Given the description of an element on the screen output the (x, y) to click on. 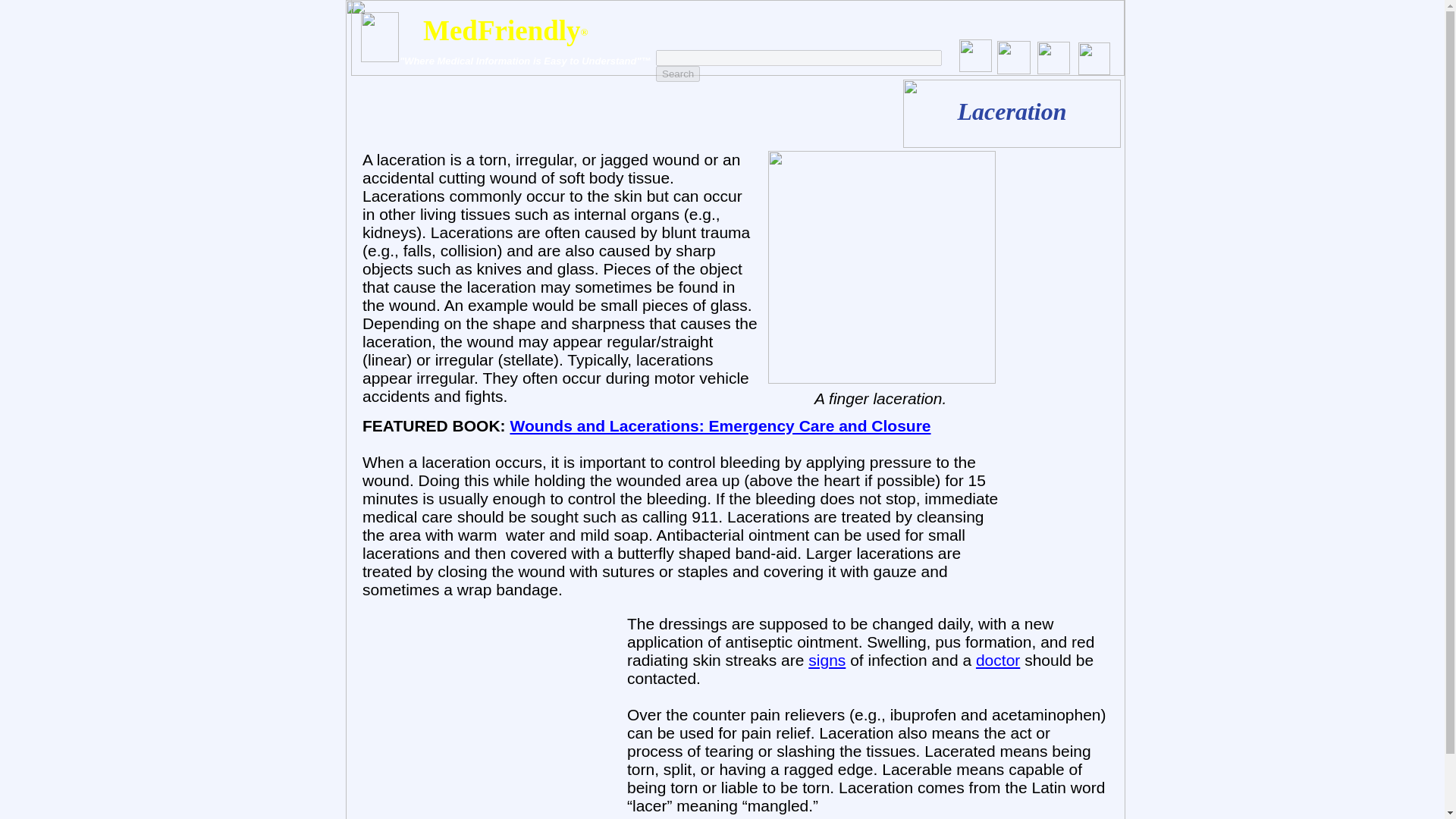
doctor (997, 660)
Search (678, 73)
Search (678, 73)
Wounds and Lacerations: Emergency Care and Closure (719, 425)
signs (826, 660)
